Given the description of an element on the screen output the (x, y) to click on. 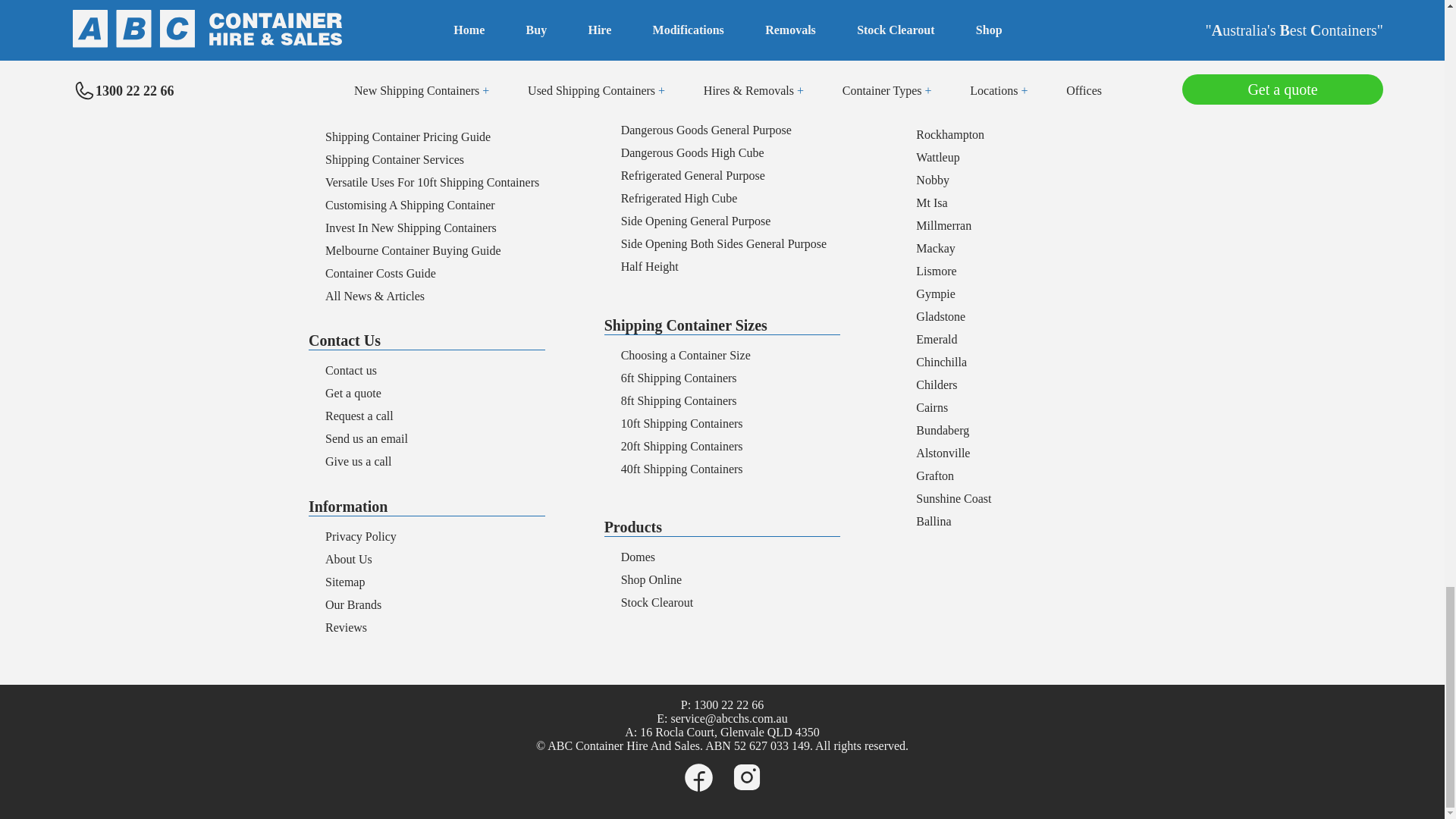
Shipping Container Grading (393, 91)
Shipping Container Scam Prevention (414, 113)
Shipping Container Dimensions (402, 68)
